Given the description of an element on the screen output the (x, y) to click on. 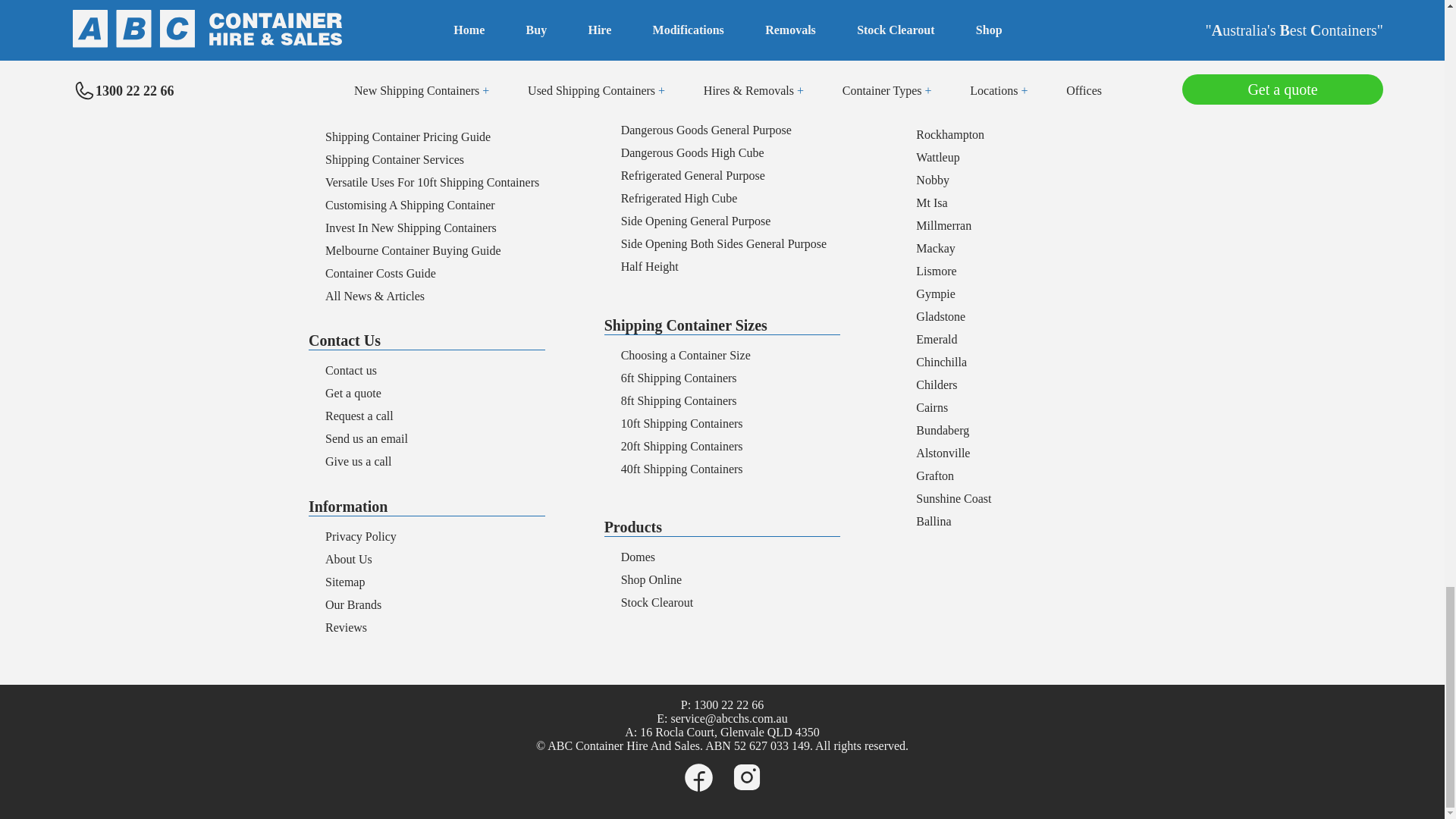
Shipping Container Grading (393, 91)
Shipping Container Scam Prevention (414, 113)
Shipping Container Dimensions (402, 68)
